Given the description of an element on the screen output the (x, y) to click on. 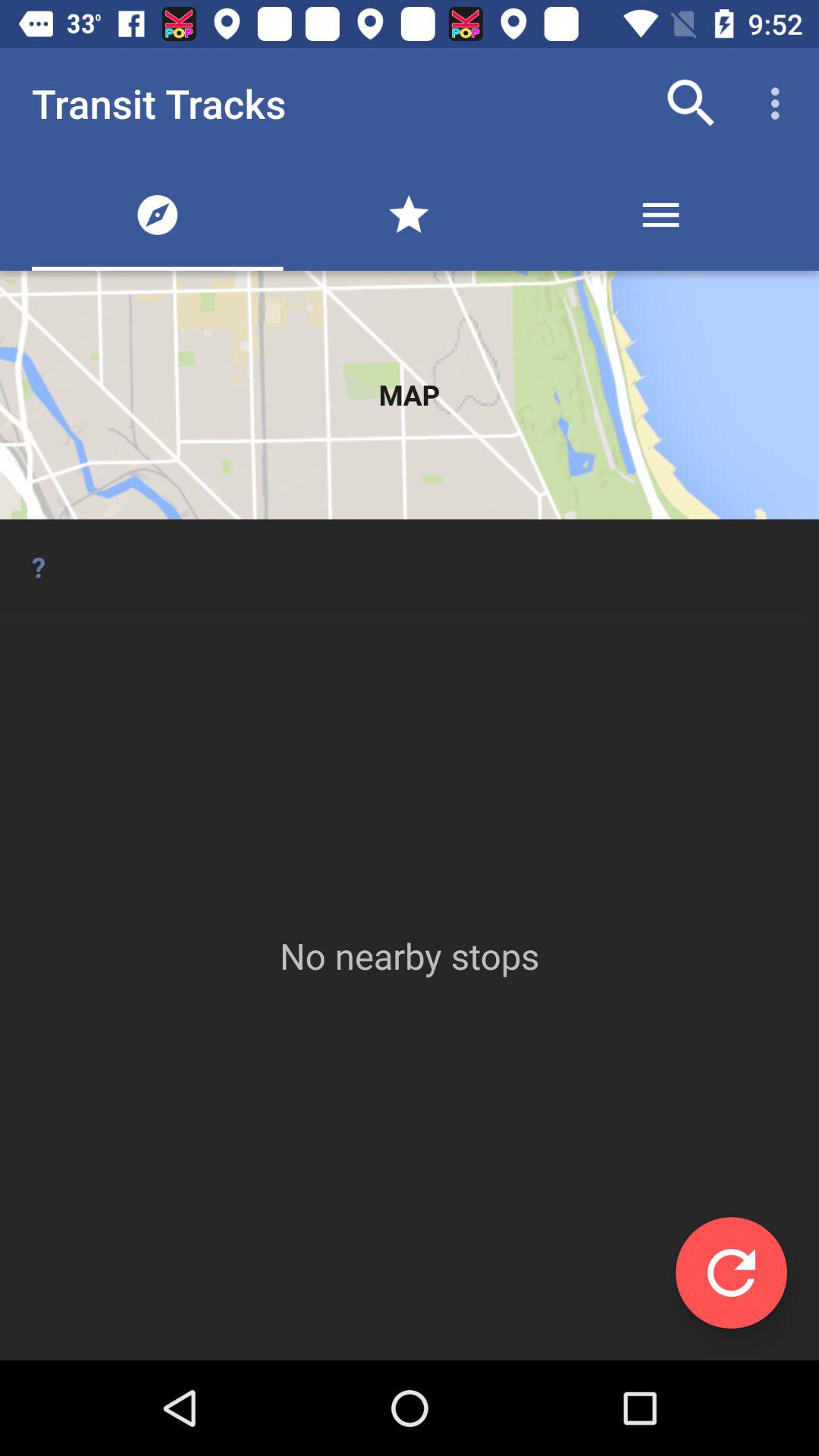
refresh map (731, 1272)
